Given the description of an element on the screen output the (x, y) to click on. 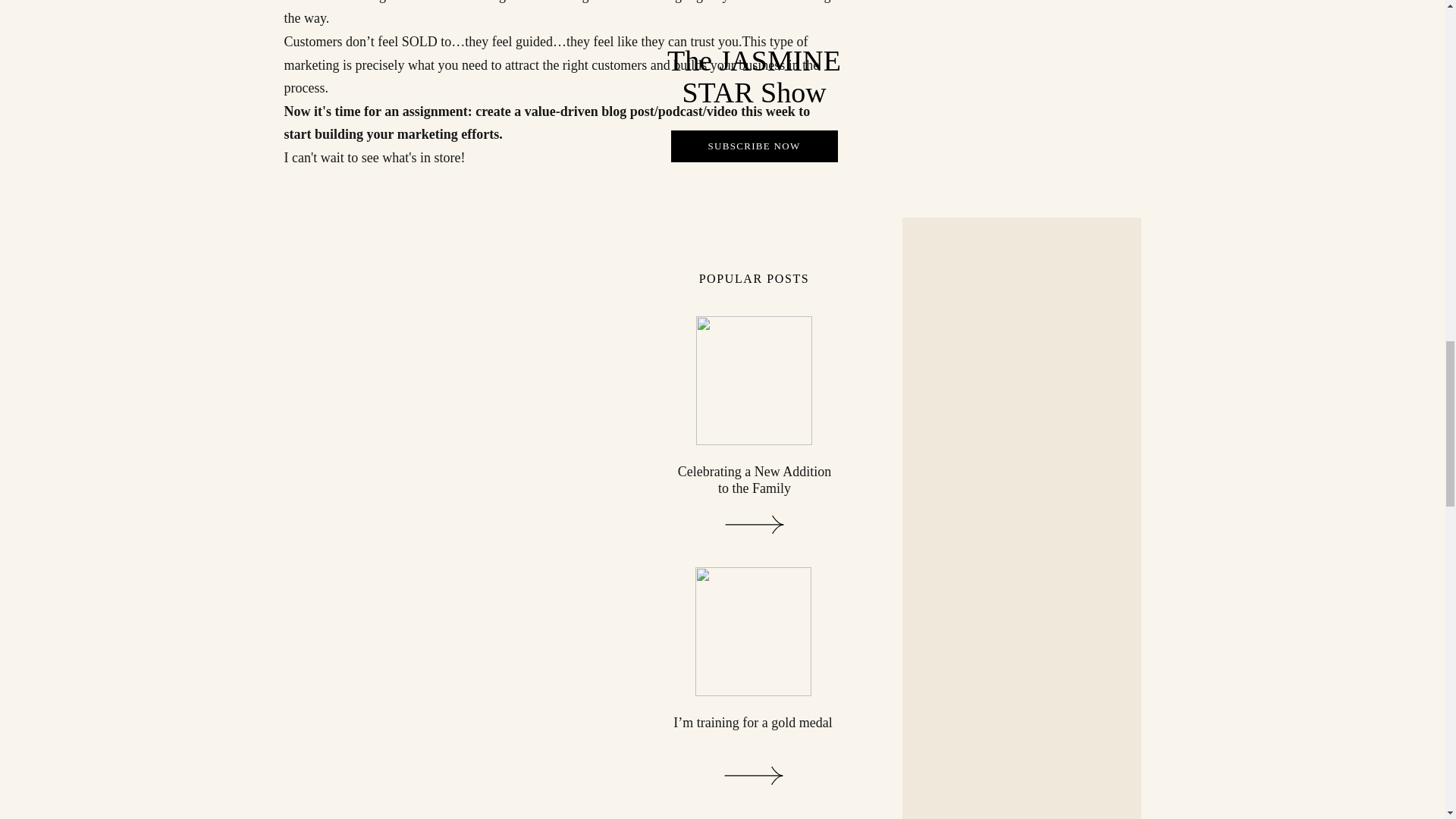
Celebrating a New Addition to the Family (754, 524)
SUBSCRIBE NOW (753, 146)
Celebrating a New Addition to the Family (754, 480)
POPULAR POSTS (754, 278)
